Given the description of an element on the screen output the (x, y) to click on. 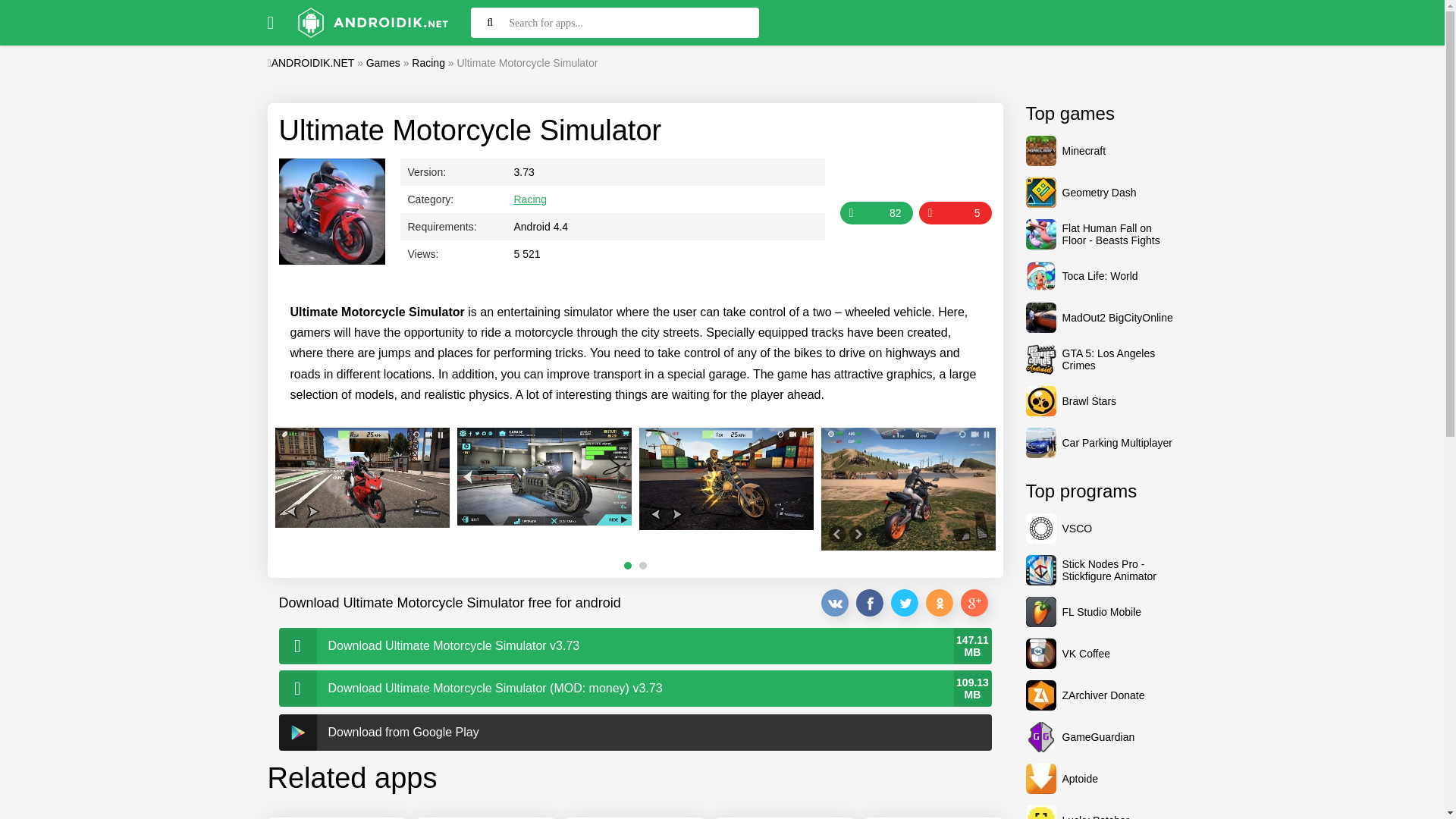
Geometry Dash (1100, 192)
Brawl Stars (1100, 400)
Racing (428, 62)
Games (383, 62)
GTA 5: Los Angeles Crimes (1100, 358)
GameGuardian (1100, 736)
Download from Google Play (635, 732)
Car Parking Multiplayer (1100, 442)
VSCO (1100, 528)
Lucky Patcher (1100, 812)
